Given the description of an element on the screen output the (x, y) to click on. 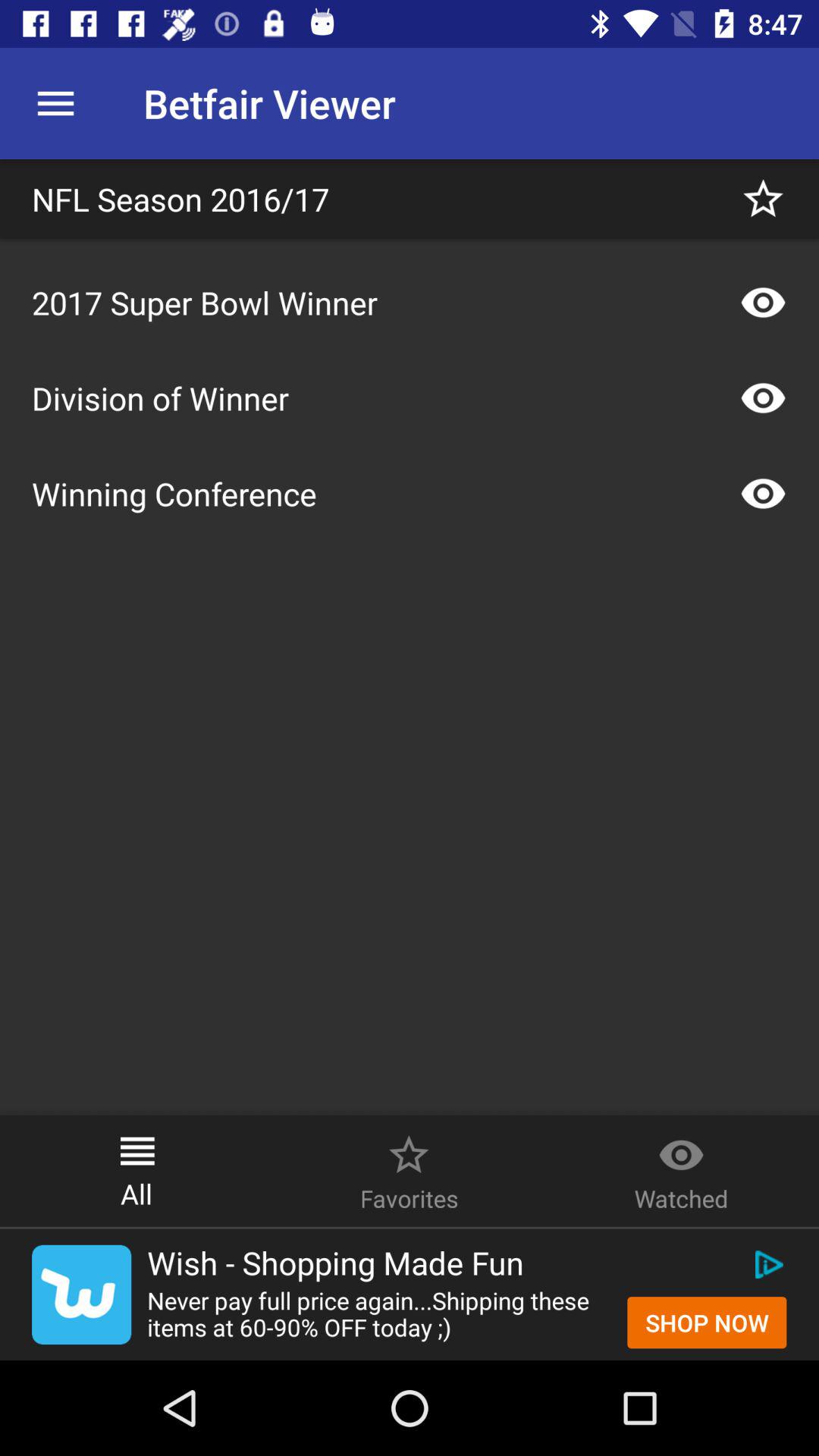
click icon next to the nfl season 2016 icon (763, 198)
